Given the description of an element on the screen output the (x, y) to click on. 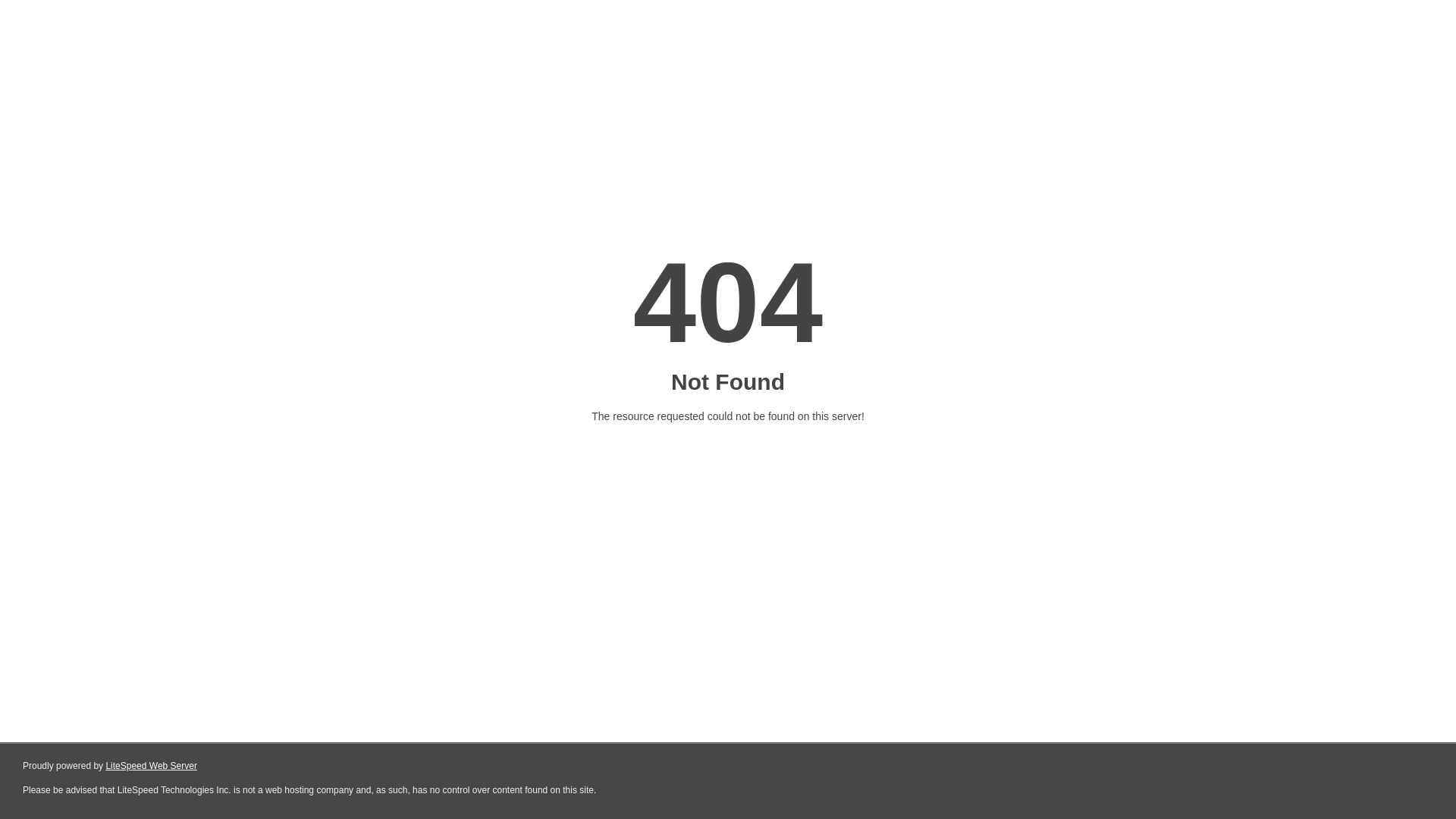
LiteSpeed Web Server Element type: text (151, 765)
